Given the description of an element on the screen output the (x, y) to click on. 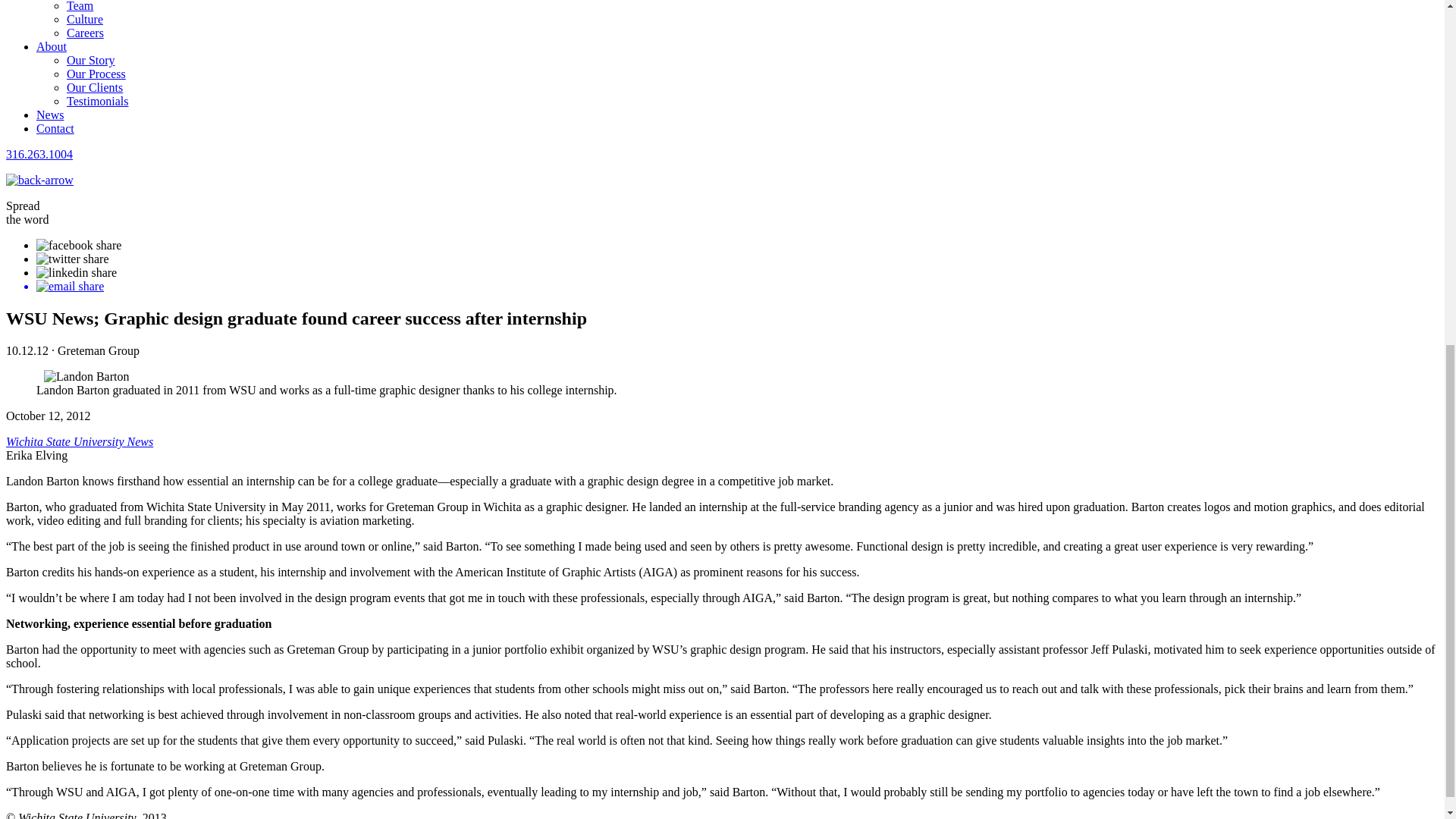
Team (79, 6)
Our Process (95, 73)
Culture (84, 19)
Our Story (90, 60)
Landon Barton (86, 377)
About (51, 46)
Go Back To News Index (39, 179)
Careers (84, 32)
